Given the description of an element on the screen output the (x, y) to click on. 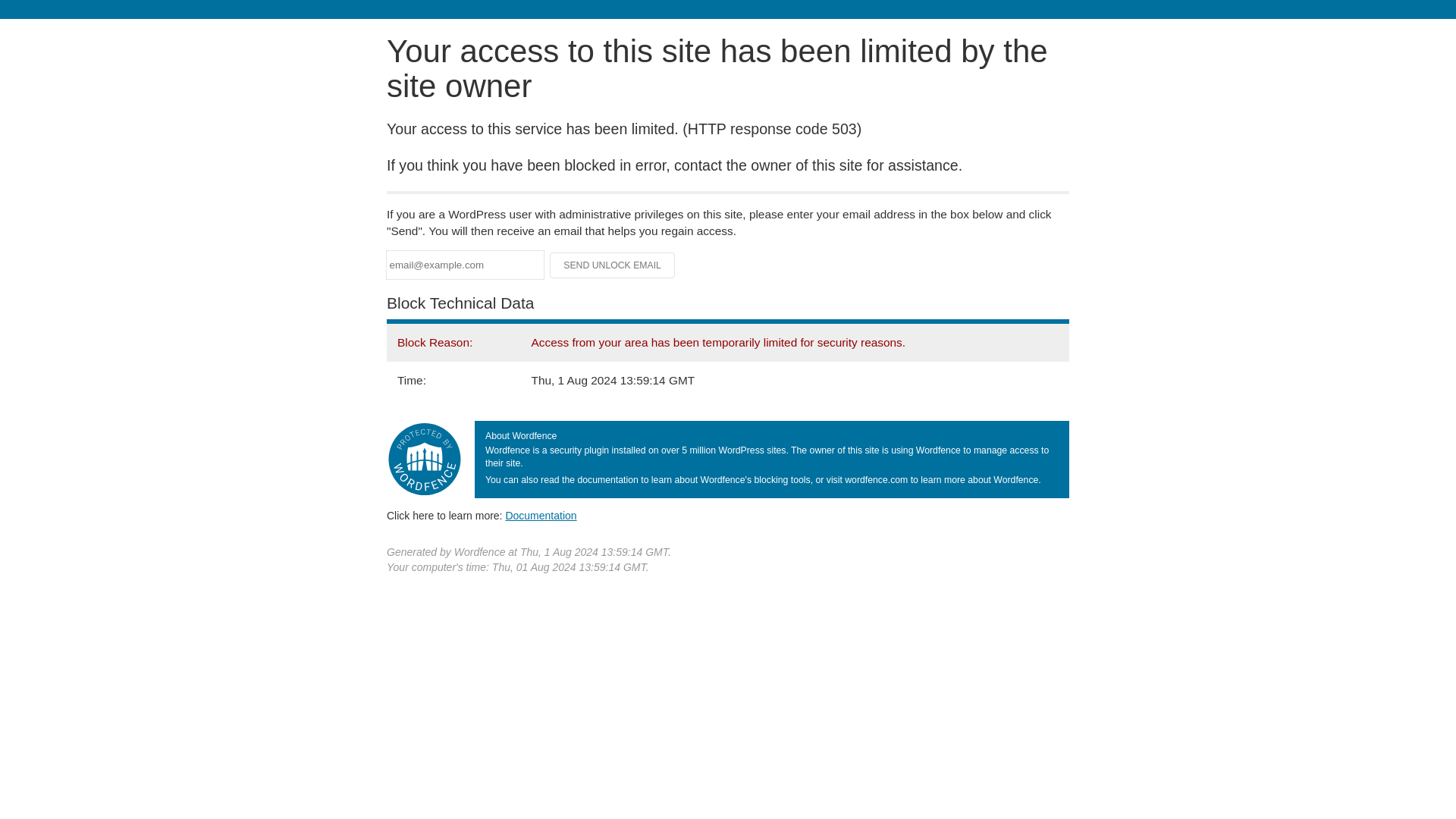
Send Unlock Email (612, 265)
Documentation (540, 515)
Send Unlock Email (612, 265)
